Given the description of an element on the screen output the (x, y) to click on. 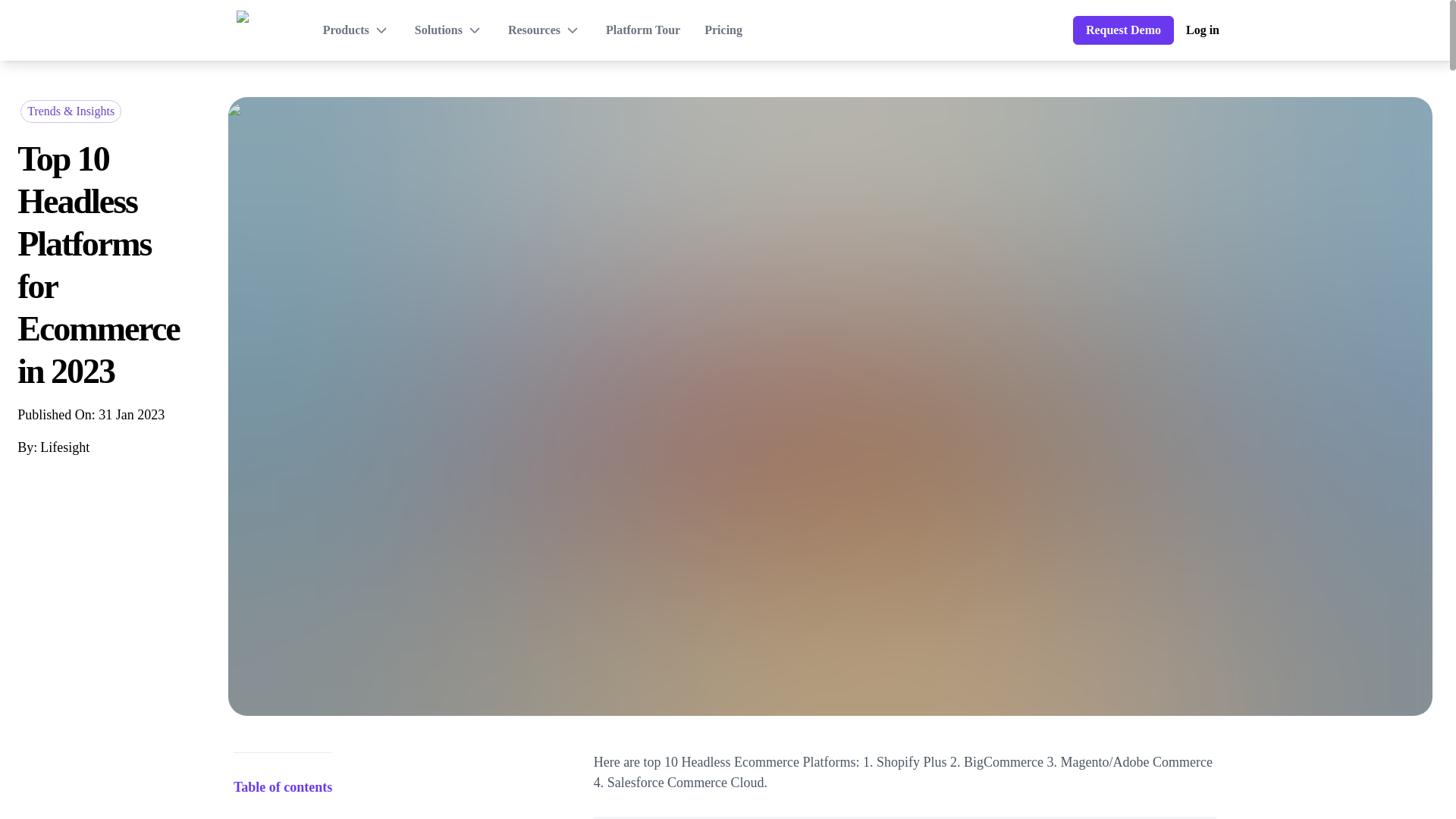
Log in (1203, 30)
Lifesight (64, 447)
Solutions (448, 30)
Resources (544, 30)
Log in (1203, 29)
Request Demo (1123, 30)
Pricing (723, 30)
Platform Tour (642, 30)
